Given the description of an element on the screen output the (x, y) to click on. 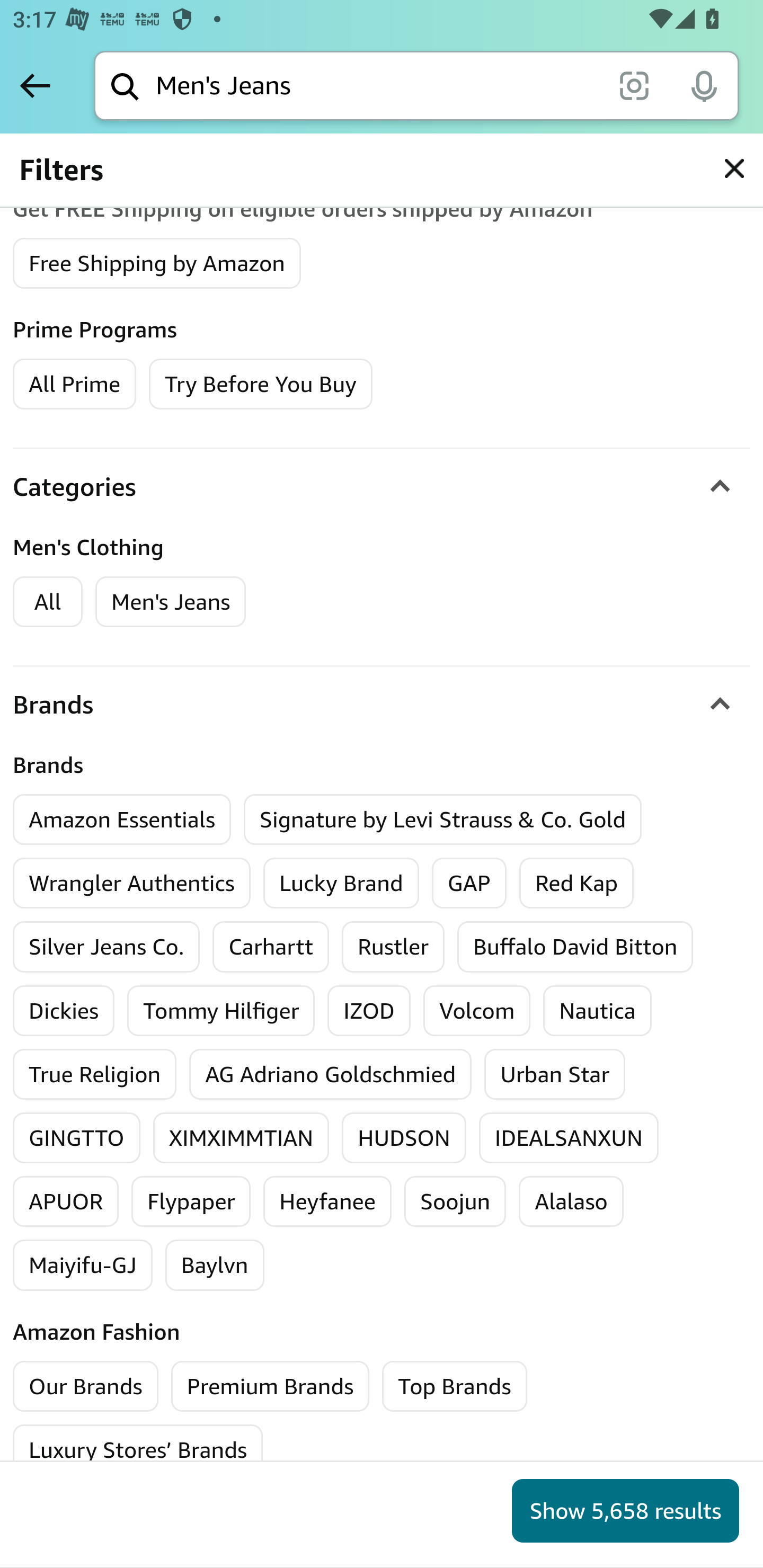
Back (35, 85)
scan it (633, 85)
Free Shipping by Amazon (157, 262)
All Prime (74, 383)
Try Before You Buy (260, 383)
Categories (381, 486)
All (47, 601)
Men's Jeans (170, 601)
Brands (381, 704)
Amazon Essentials (121, 819)
Signature by Levi Strauss & Co. Gold (442, 819)
Wrangler Authentics (131, 882)
Lucky Brand (340, 882)
GAP (469, 882)
Red Kap (576, 882)
Silver Jeans Co. (105, 946)
Carhartt (269, 946)
Rustler (392, 946)
Buffalo David Bitton (575, 946)
Dickies (63, 1009)
Tommy Hilfiger (221, 1009)
IZOD (369, 1009)
Volcom (476, 1009)
Nautica (597, 1009)
True Religion (94, 1073)
AG Adriano Goldschmied (330, 1073)
Urban Star (554, 1073)
GINGTTO (76, 1138)
XIMXIMMTIAN (241, 1138)
HUDSON (403, 1138)
IDEALSANXUN (568, 1138)
APUOR (65, 1201)
Flypaper (190, 1201)
Heyfanee (327, 1201)
Soojun (455, 1201)
Alalaso (571, 1201)
Maiyifu-GJ (82, 1266)
Baylvn (214, 1266)
Our Brands (85, 1386)
Premium Brands (270, 1386)
Top Brands (454, 1386)
Luxury Stores’ Brands (137, 1450)
Show 5,658 results (625, 1510)
